Given the description of an element on the screen output the (x, y) to click on. 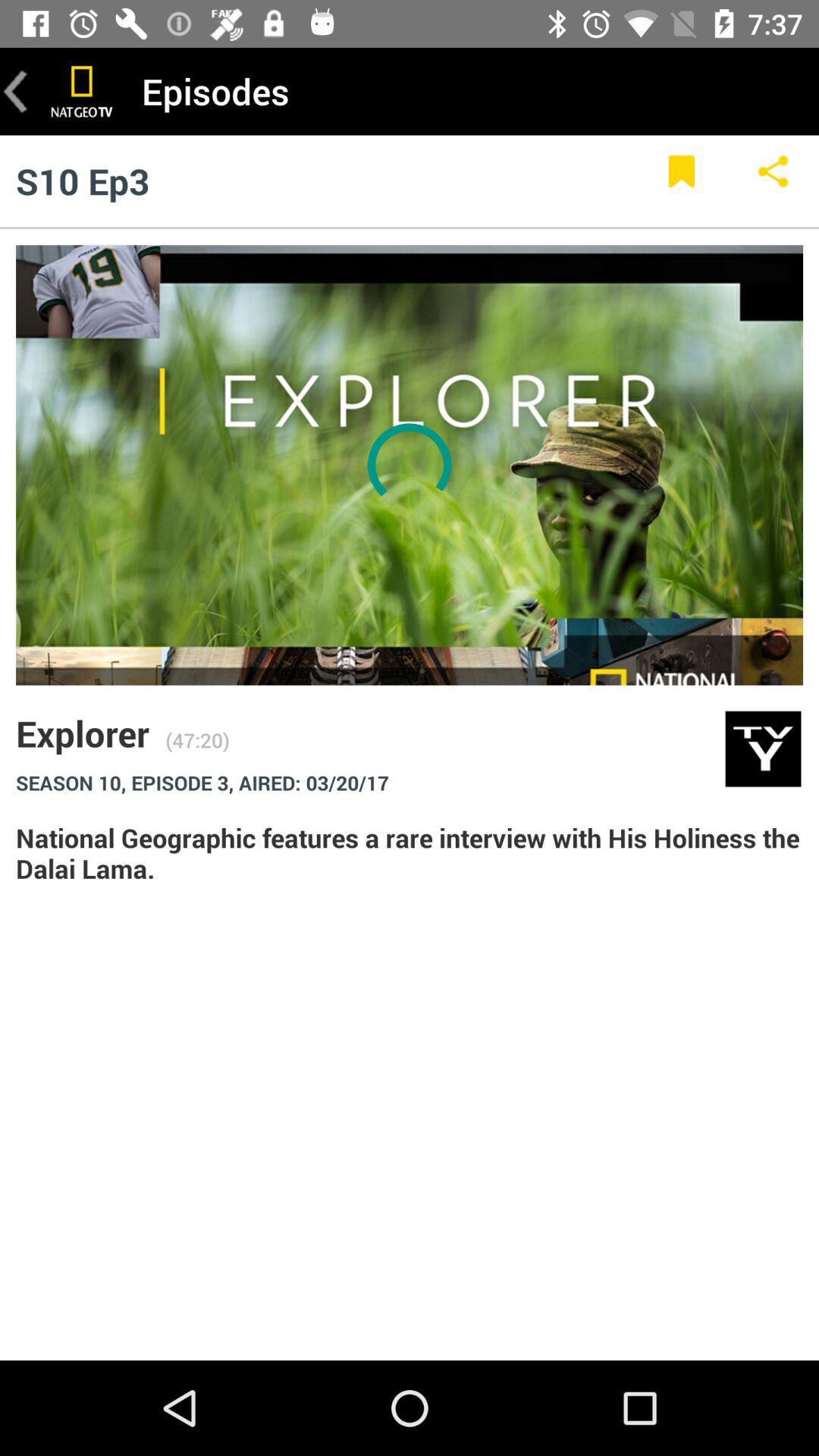
open the item to the left of episodes (81, 91)
